Given the description of an element on the screen output the (x, y) to click on. 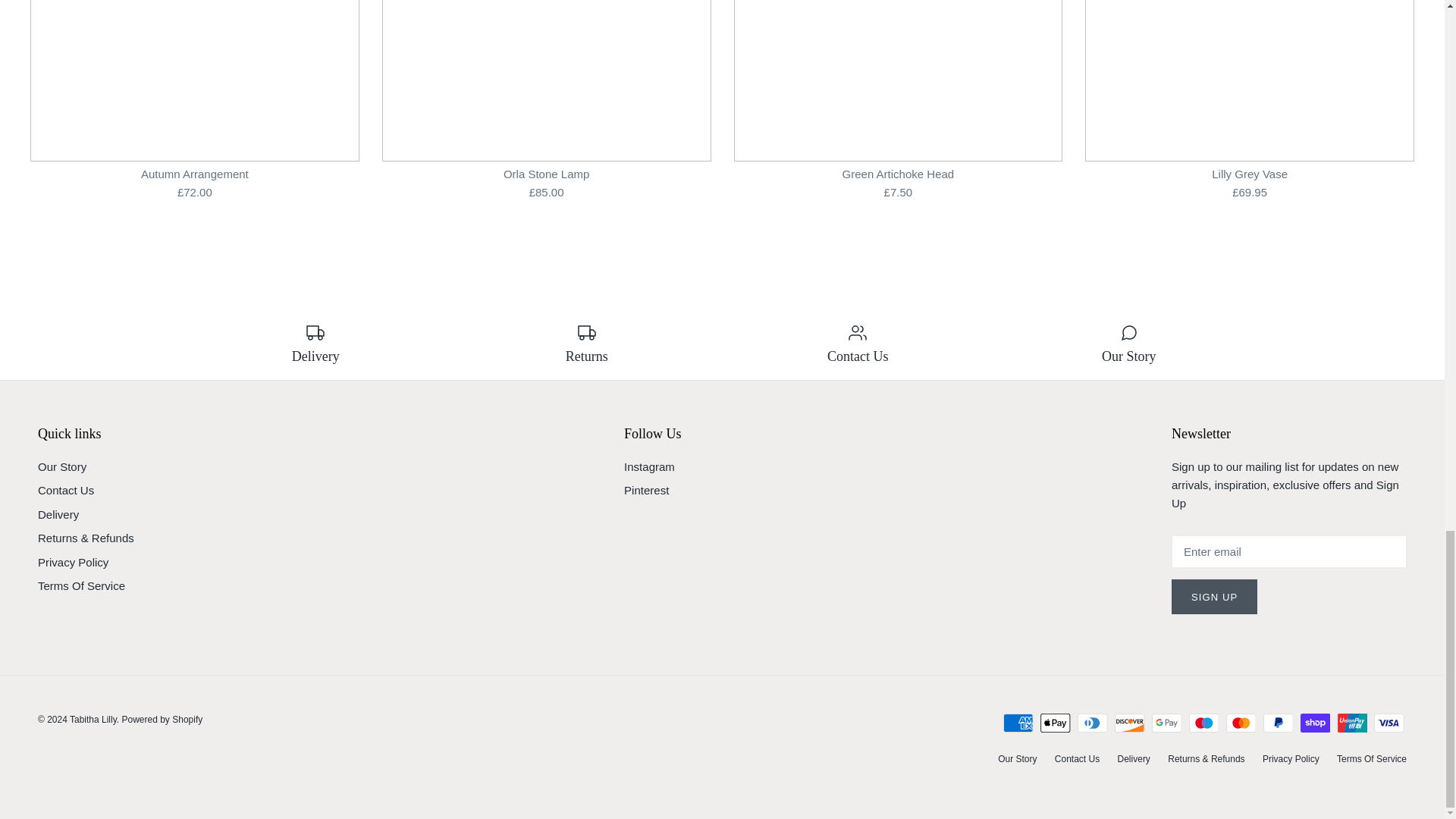
Apple Pay (1055, 722)
Discover (1129, 722)
American Express (1018, 722)
Diners Club (1092, 722)
